Given the description of an element on the screen output the (x, y) to click on. 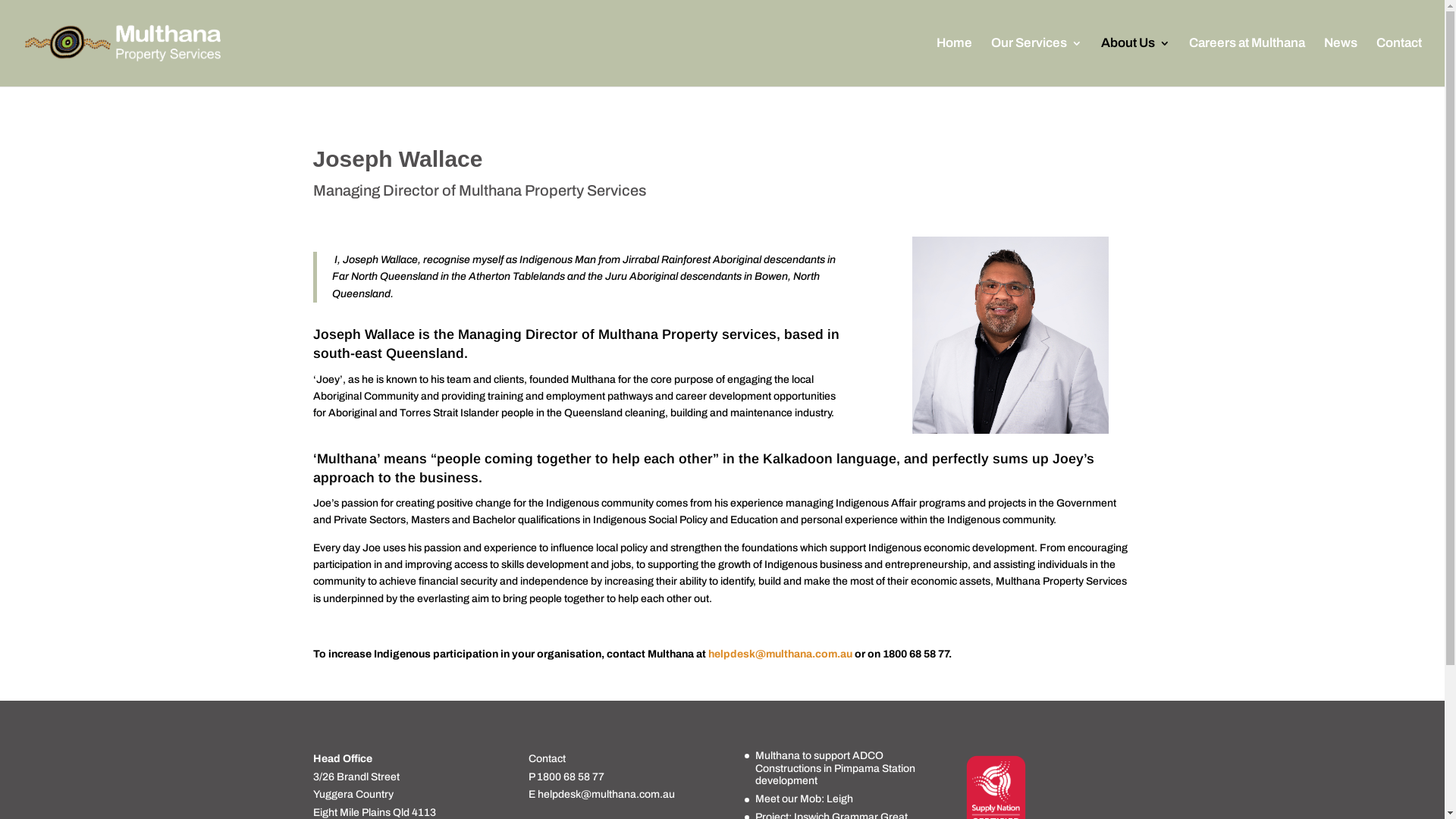
Our Services Element type: text (1036, 61)
helpdesk@multhana.com.au Element type: text (780, 653)
Meet our Mob: Leigh Element type: text (804, 798)
1800 68 58 77 Element type: text (570, 776)
About Us Element type: text (1135, 61)
Contact Element type: text (1398, 61)
Careers at Multhana Element type: text (1247, 61)
helpdesk@multhana.com.au Element type: text (605, 794)
News Element type: text (1340, 61)
Home Element type: text (954, 61)
Joey Headshot_square Element type: hover (1010, 334)
